Given the description of an element on the screen output the (x, y) to click on. 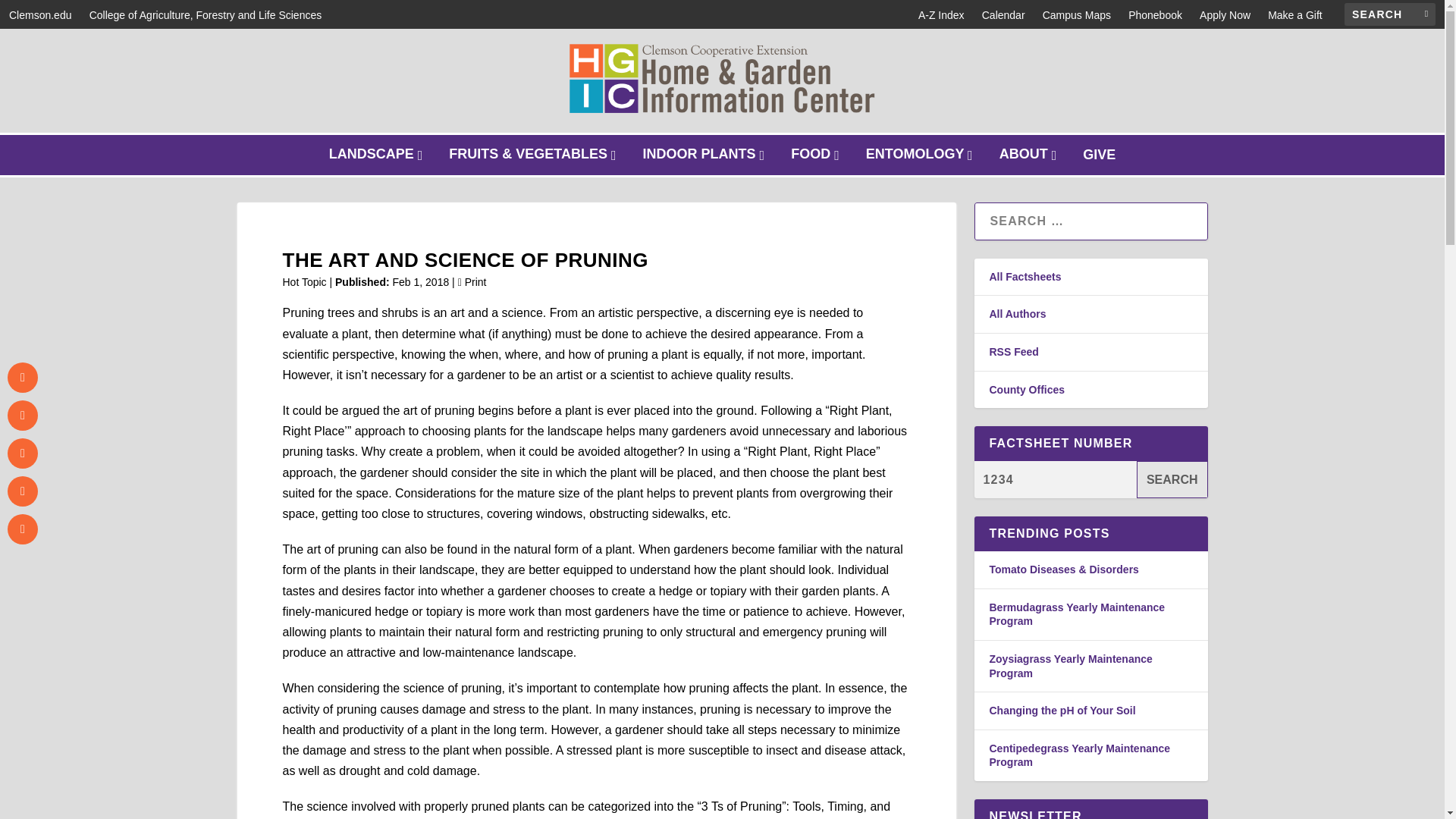
College of Agriculture, Forestry and Life Sciences (204, 15)
A-Z Index (940, 15)
Search (1172, 479)
Phonebook (1155, 15)
Search (1172, 479)
Clemson.edu Home (39, 15)
Apply Now (1224, 15)
Make a Gift (1295, 15)
A-Z Index (377, 155)
Search for: (940, 15)
Calendar (1389, 14)
Clemson Admissions Apply Now (1003, 15)
CAFLS Home (1224, 15)
